Given the description of an element on the screen output the (x, y) to click on. 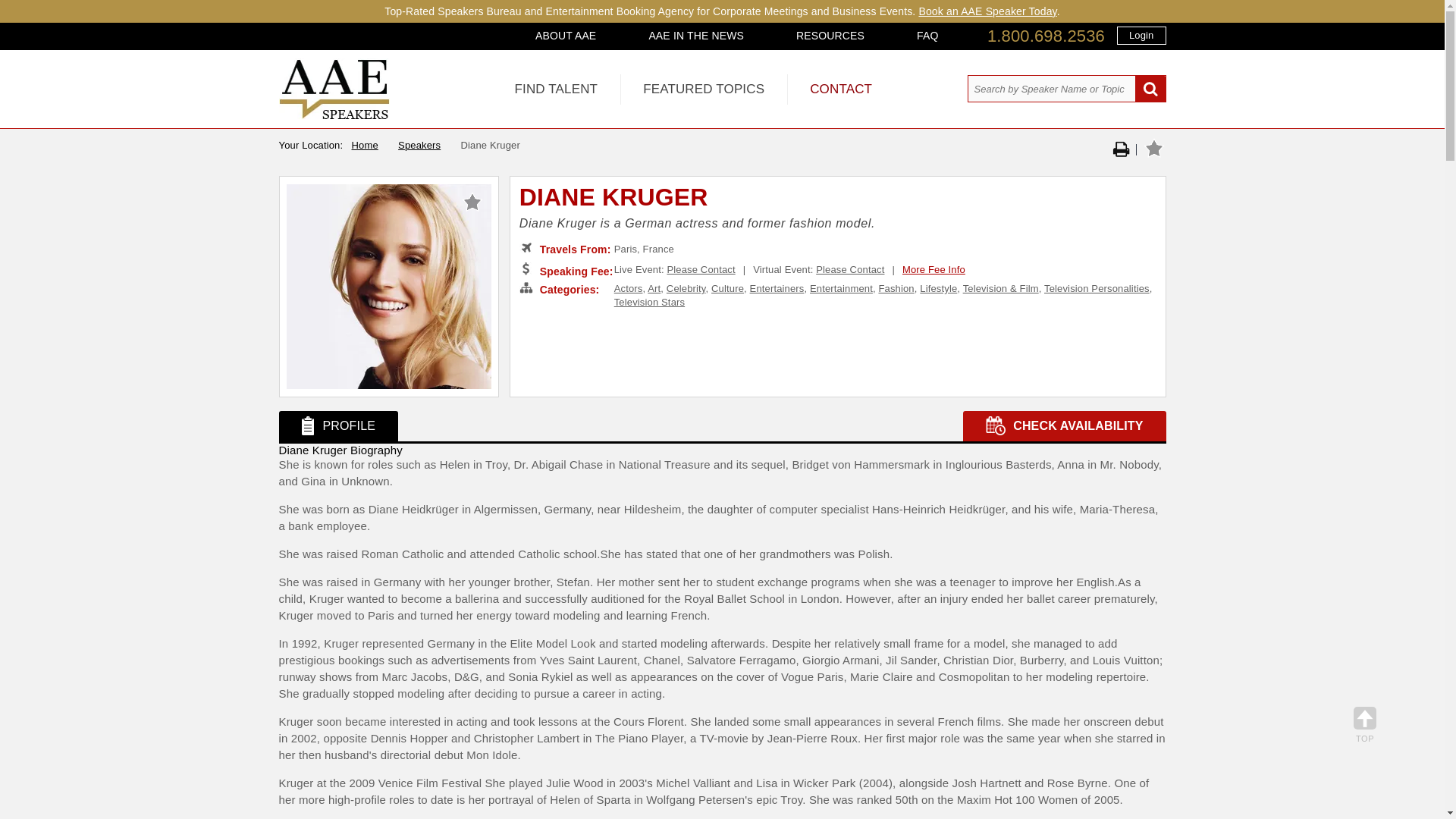
ABOUT AAE (565, 34)
All American Speakers Bureau and Celebrity Booking Agency (334, 115)
1.800.698.2536 (1046, 35)
Book an AAE Speaker Today (987, 10)
FAQ (927, 34)
Search (1150, 89)
RESOURCES (829, 34)
AAE IN THE NEWS (695, 34)
Login (1141, 35)
